Given the description of an element on the screen output the (x, y) to click on. 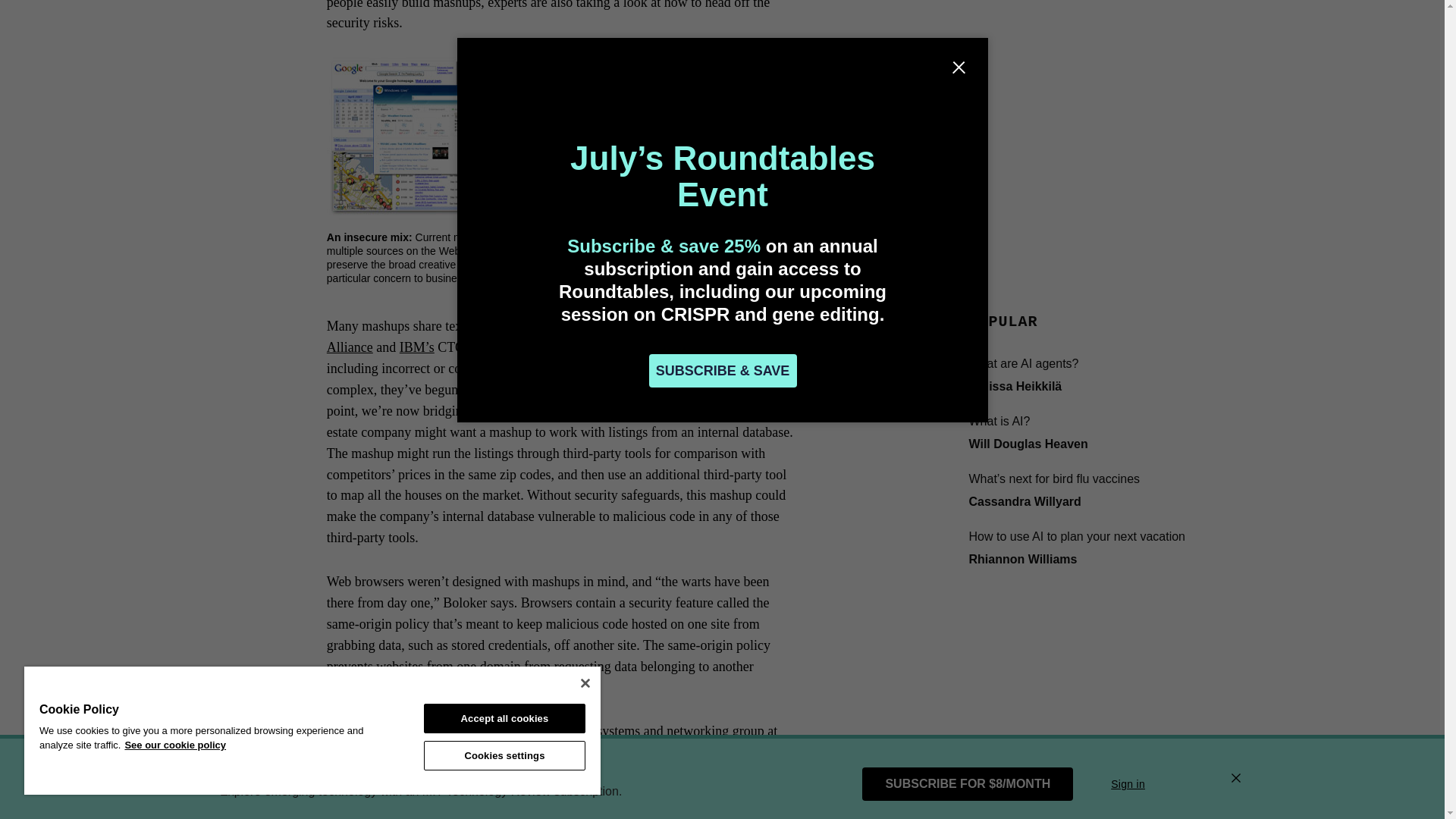
3rd party ad content (1081, 38)
